Given the description of an element on the screen output the (x, y) to click on. 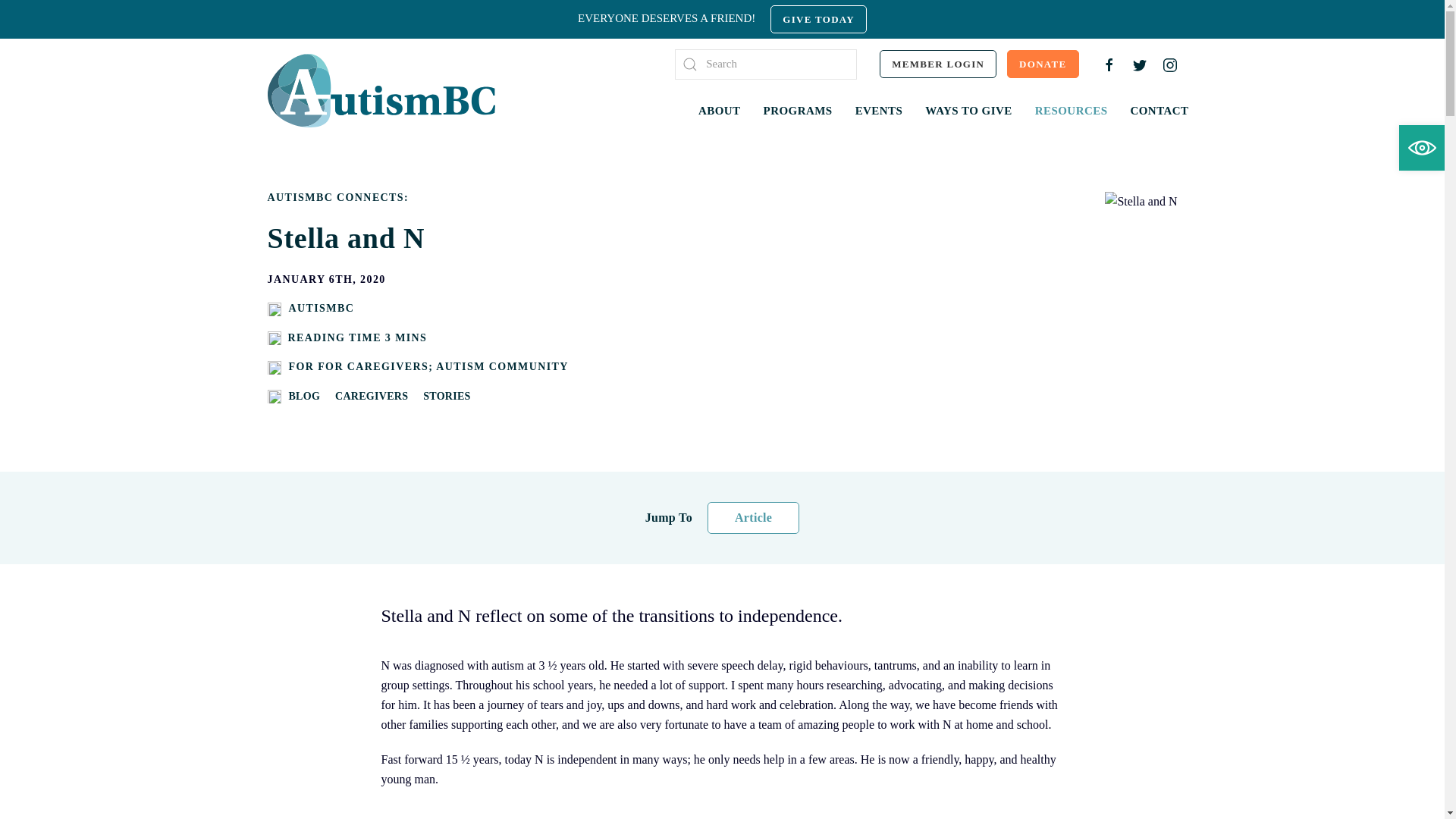
GIVE TODAY Element type: text (818, 19)
STORIES Element type: text (446, 396)
Article Element type: text (753, 517)
CONTACT Element type: text (1158, 110)
DONATE Element type: text (1042, 64)
Open toolbar Element type: text (1421, 147)
MEMBER LOGIN Element type: text (937, 64)
BLOG Element type: text (304, 396)
EVENTS Element type: text (879, 110)
WAYS TO GIVE Element type: text (968, 110)
ABOUT Element type: text (719, 110)
PROGRAMS Element type: text (797, 110)
CAREGIVERS Element type: text (371, 396)
RESOURCES Element type: text (1071, 110)
